Given the description of an element on the screen output the (x, y) to click on. 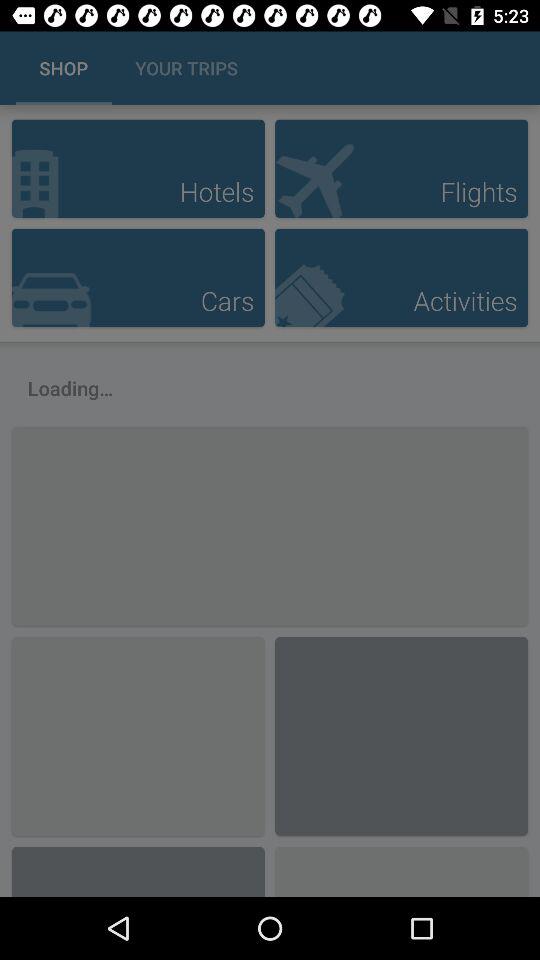
cars option (138, 277)
